Given the description of an element on the screen output the (x, y) to click on. 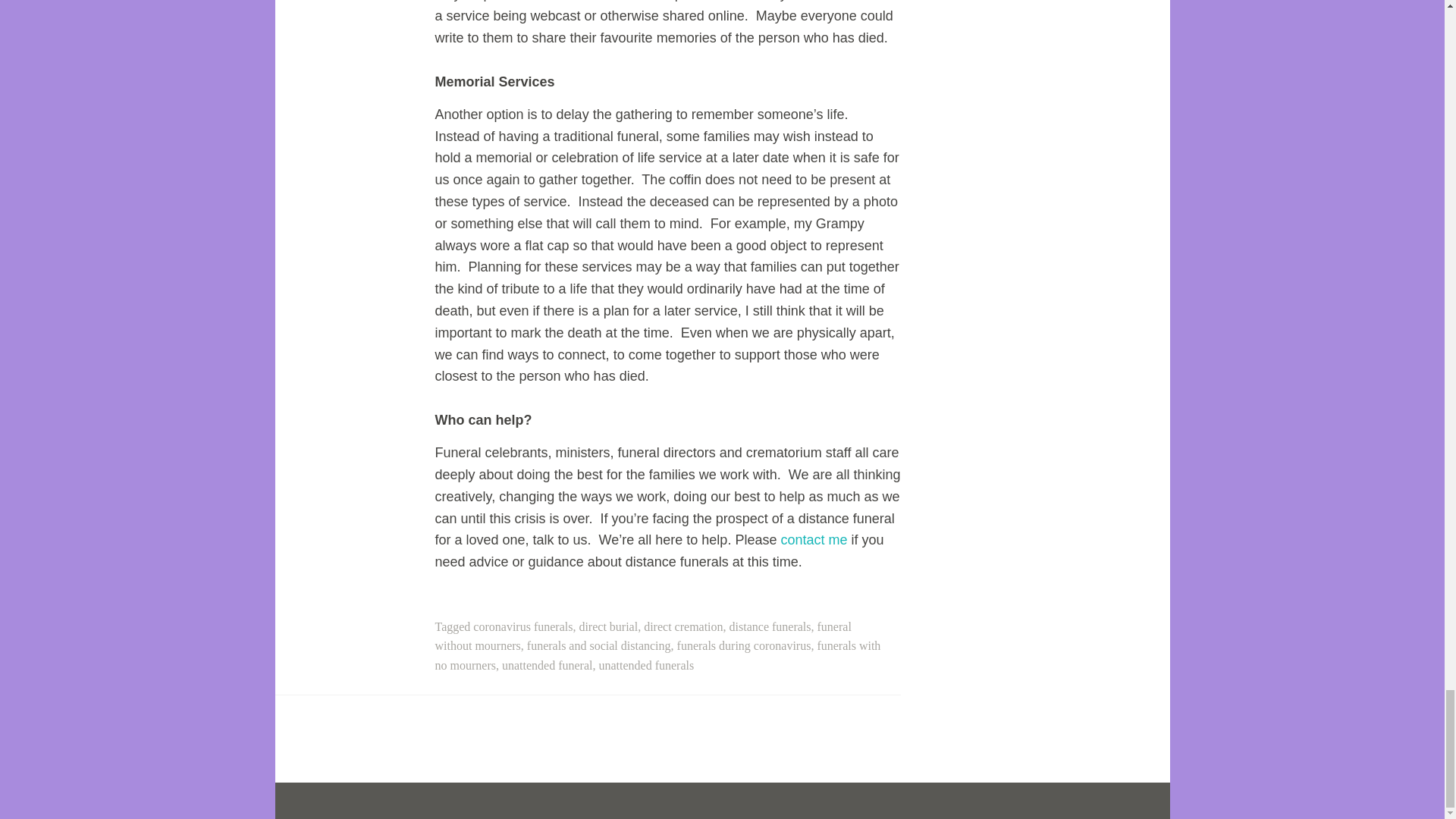
direct burial (607, 626)
direct cremation (682, 626)
funeral without mourners (643, 635)
distance funerals (769, 626)
coronavirus funerals (522, 626)
contact me (813, 539)
funerals and social distancing (599, 645)
